Given the description of an element on the screen output the (x, y) to click on. 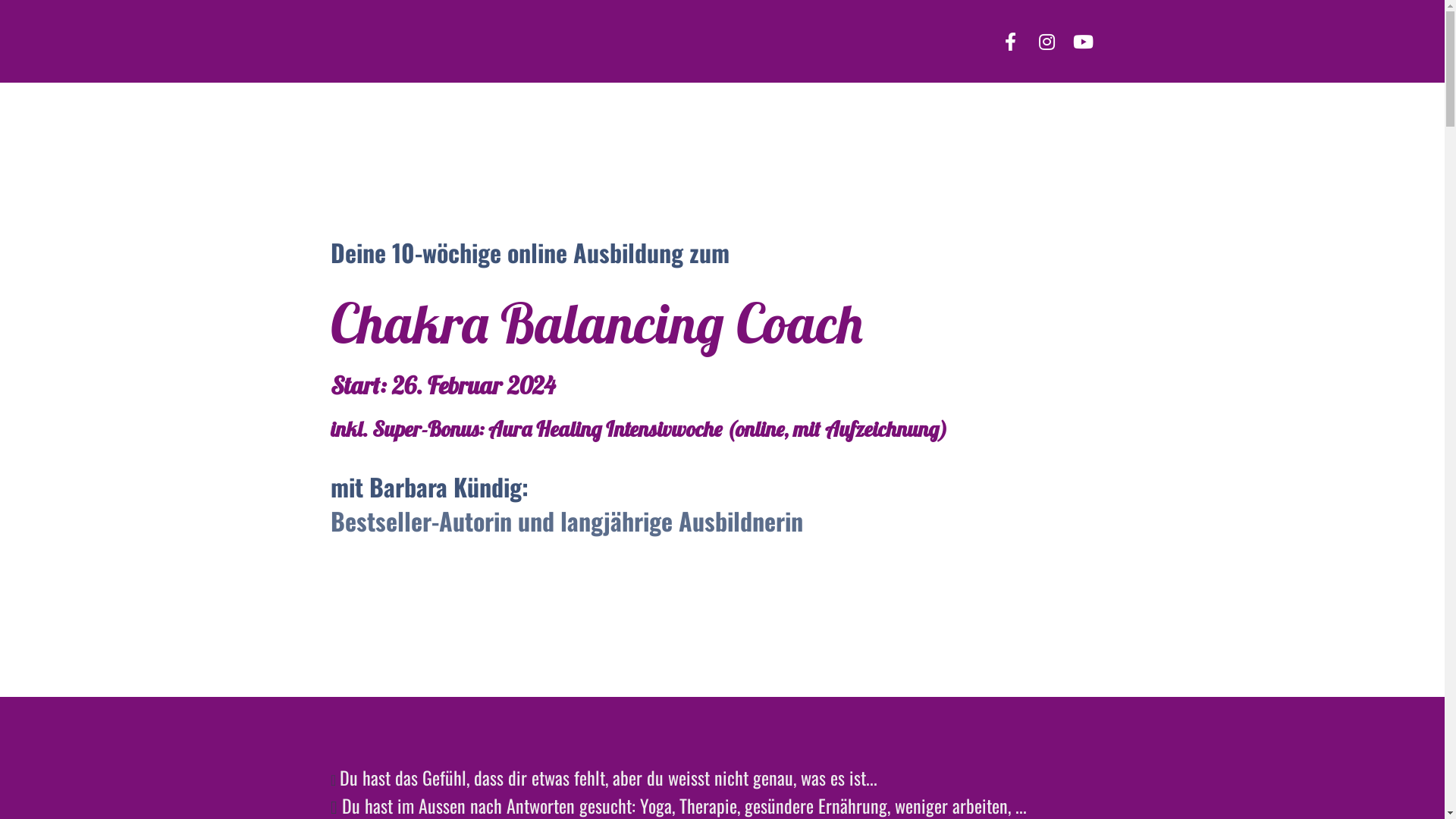
Share on Instagram Element type: text (1046, 41)
Share on Facebook Element type: text (1009, 41)
Share on Youtube Element type: text (1082, 41)
